Given the description of an element on the screen output the (x, y) to click on. 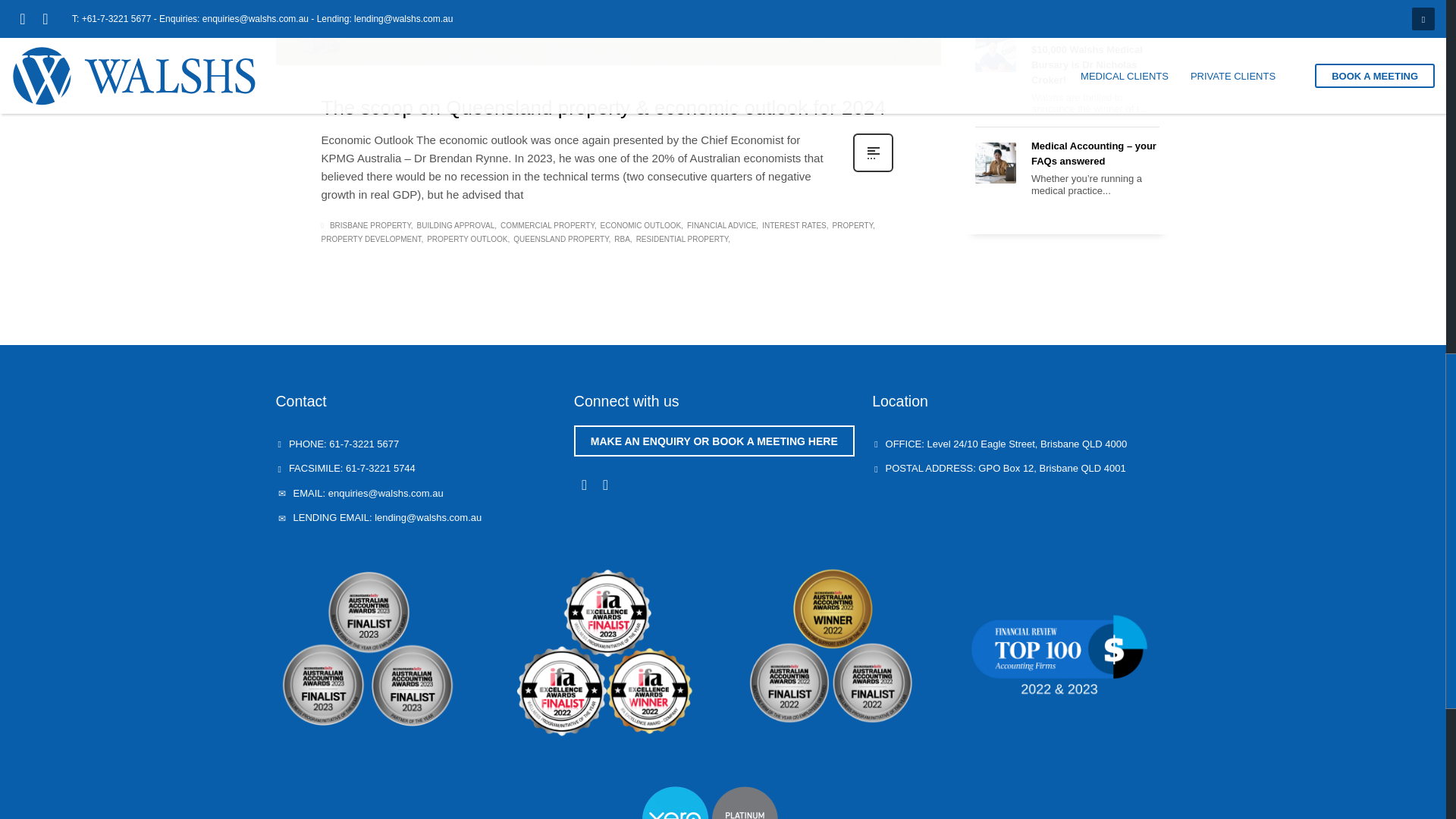
ENQUIRE WITH OUR TEAM OR BOOK A MEETING (713, 440)
PROPERTY OUTLOOK (467, 239)
COMMERCIAL PROPERTY (548, 225)
0 (874, 28)
FINANCIAL ADVICE (722, 225)
BRISBANE PROPERTY (371, 225)
PROPERTY (853, 225)
INTEREST RATES (794, 225)
UNCATEGORIZED (559, 31)
RESIDENTIAL PROPERTY (683, 239)
